Given the description of an element on the screen output the (x, y) to click on. 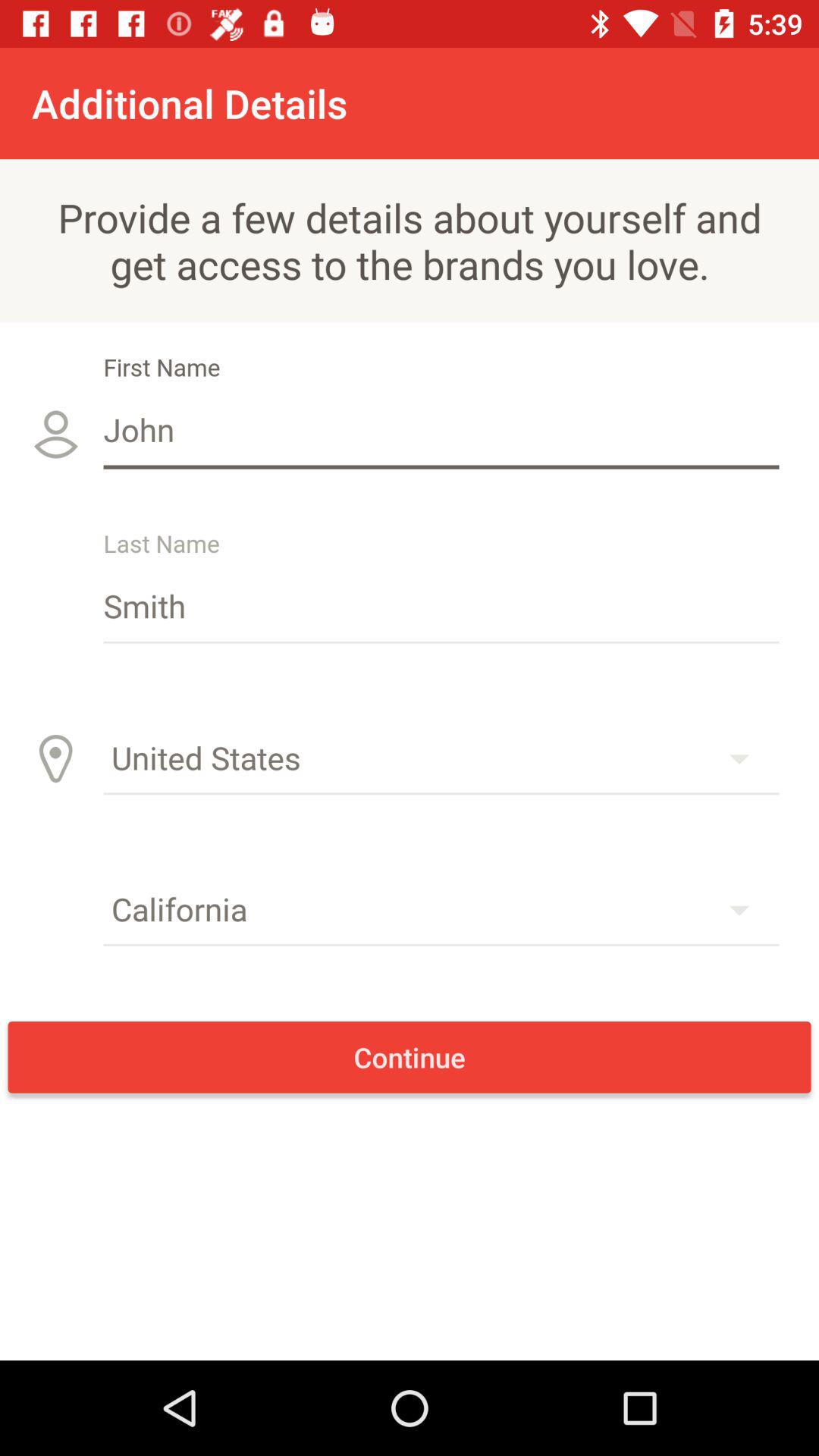
launch item below california (409, 1057)
